Given the description of an element on the screen output the (x, y) to click on. 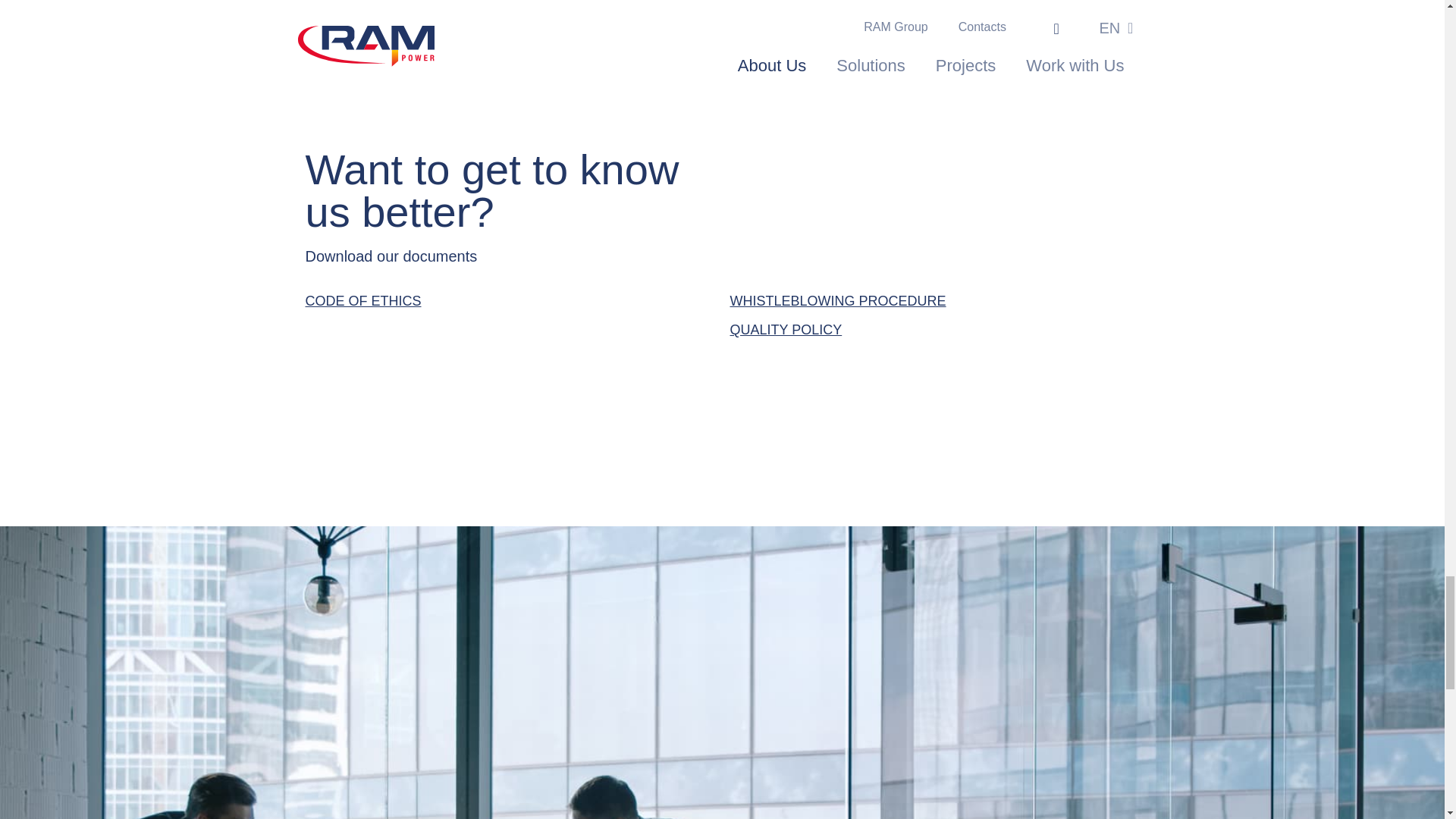
UNI EN ISO 3834-2:2021 (665, 20)
ISO 14001 (903, 20)
ISO 9001 (333, 20)
